Given the description of an element on the screen output the (x, y) to click on. 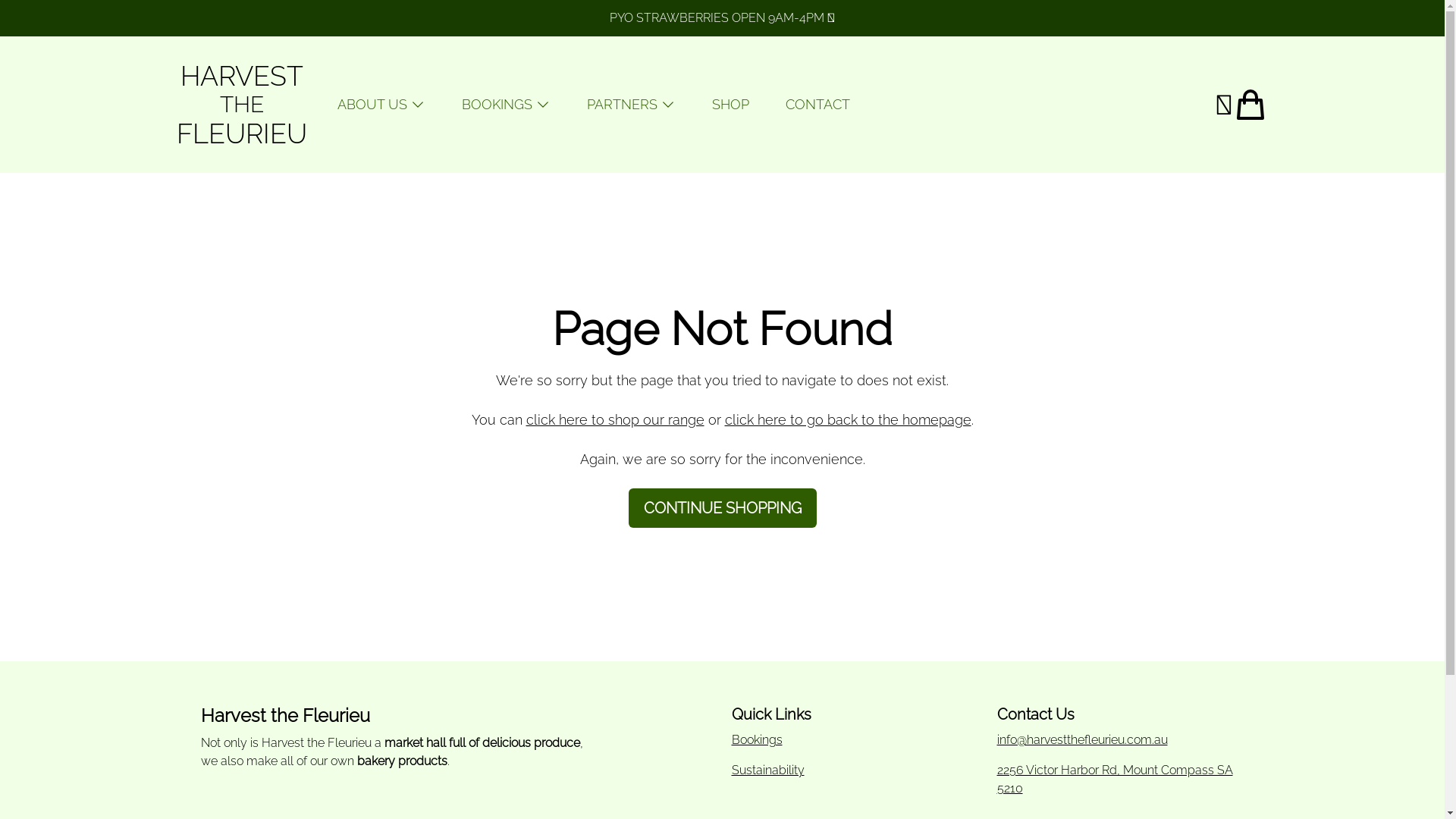
Sustainability Element type: text (767, 769)
HARVEST
THE
FLEURIEU Element type: text (240, 104)
2256 Victor Harbor Rd, Mount Compass SA 5210 Element type: text (1119, 779)
CONTACT Element type: text (817, 104)
info@harvestthefleurieu.com.au Element type: text (1119, 740)
click here to shop our range Element type: text (615, 419)
Bookings Element type: text (756, 739)
CONTINUE SHOPPING Element type: text (721, 507)
click here to go back to the homepage Element type: text (847, 419)
SHOP Element type: text (729, 104)
